Given the description of an element on the screen output the (x, y) to click on. 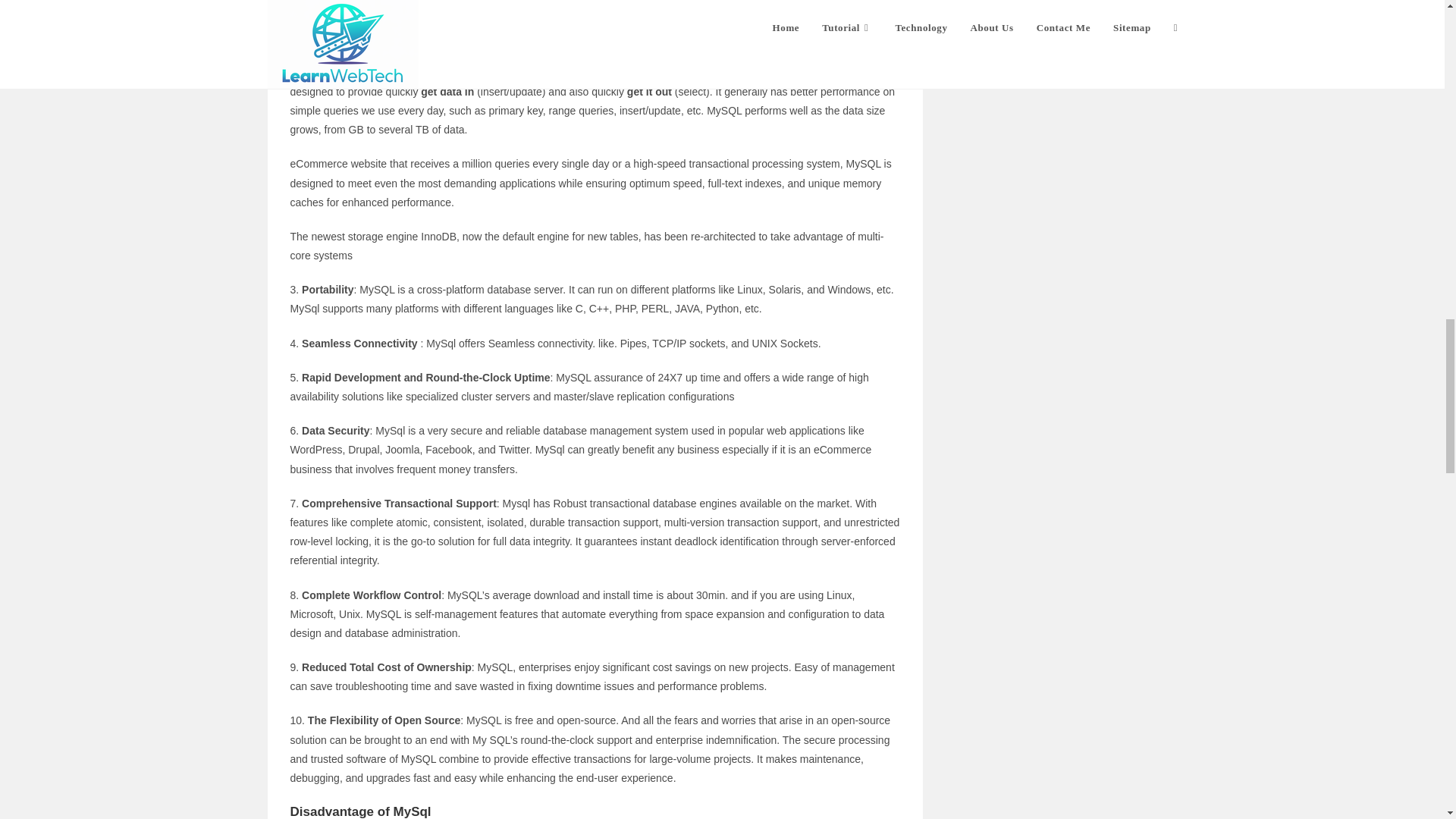
Scalability (315, 37)
